Given the description of an element on the screen output the (x, y) to click on. 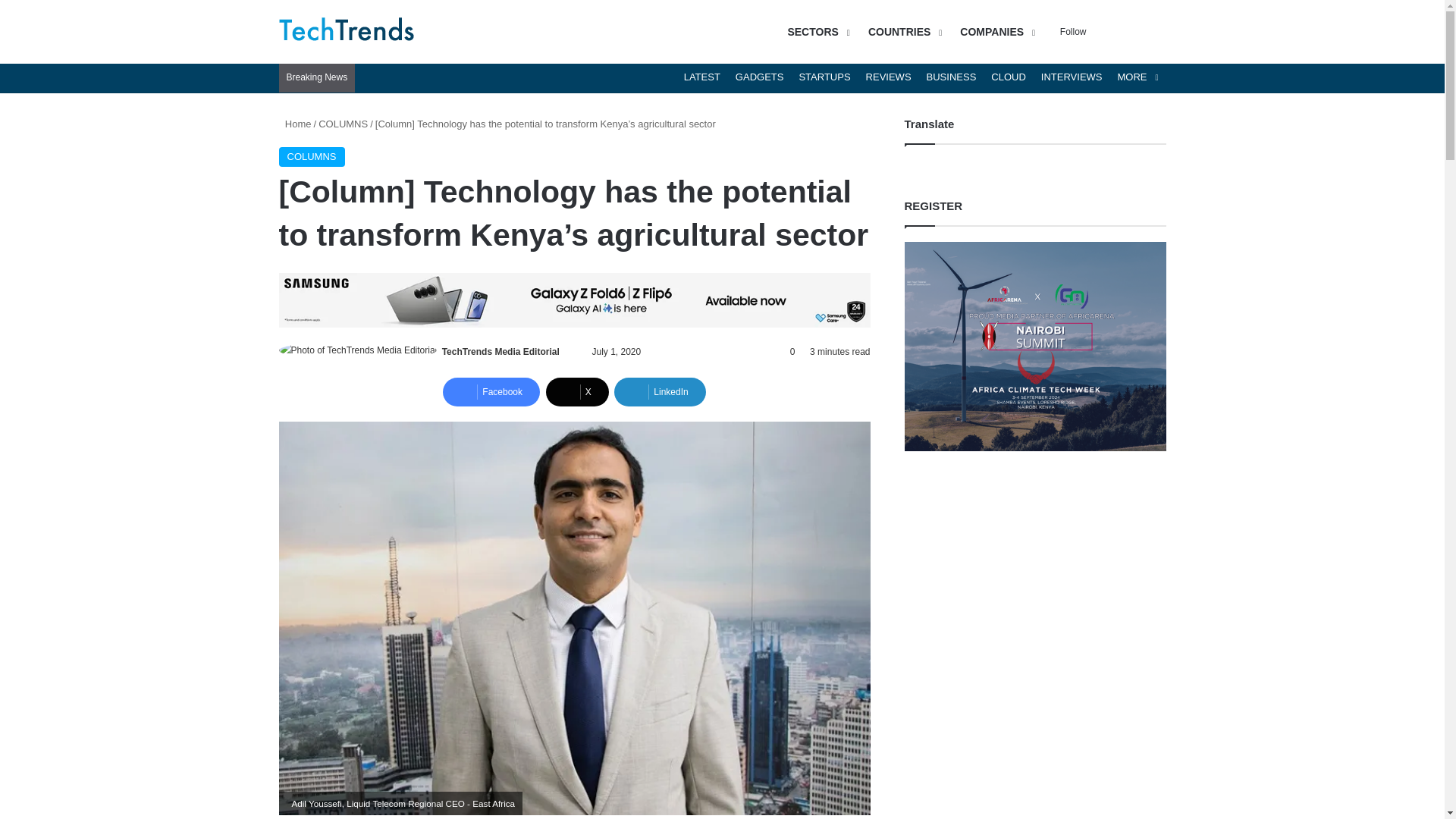
TechTrends Media Editorial (500, 351)
Facebook (491, 391)
COMPANIES (995, 31)
COUNTRIES (903, 31)
X (577, 391)
SECTORS (816, 31)
TechTrendsKE (346, 31)
LinkedIn (659, 391)
